Given the description of an element on the screen output the (x, y) to click on. 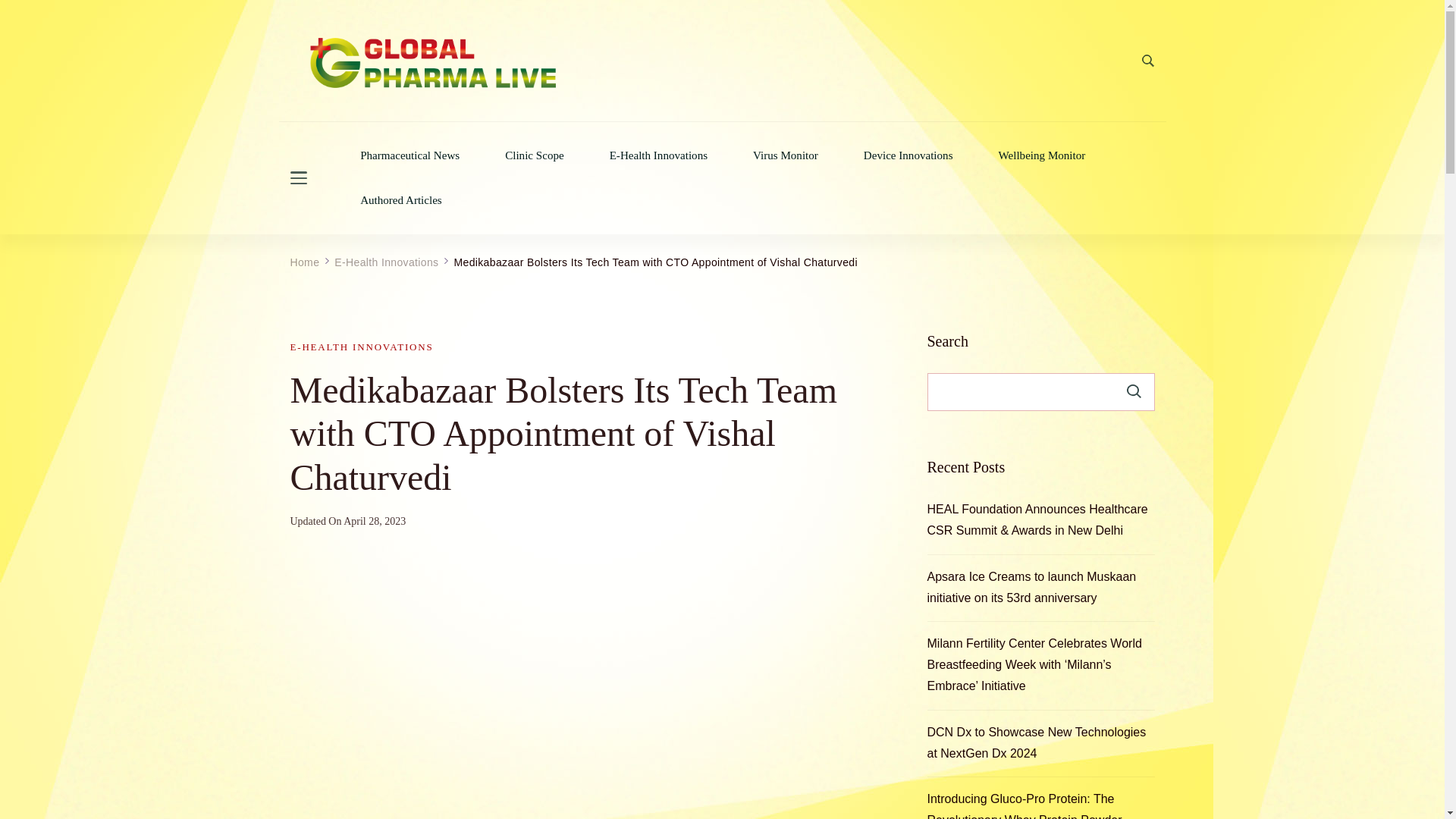
Authored Articles (400, 200)
Clinic Scope (534, 155)
Virus Monitor (785, 155)
Global Pharma Live (381, 121)
Wellbeing Monitor (1042, 155)
E-Health Innovations (658, 155)
Device Innovations (908, 155)
Pharmaceutical News (409, 155)
